Given the description of an element on the screen output the (x, y) to click on. 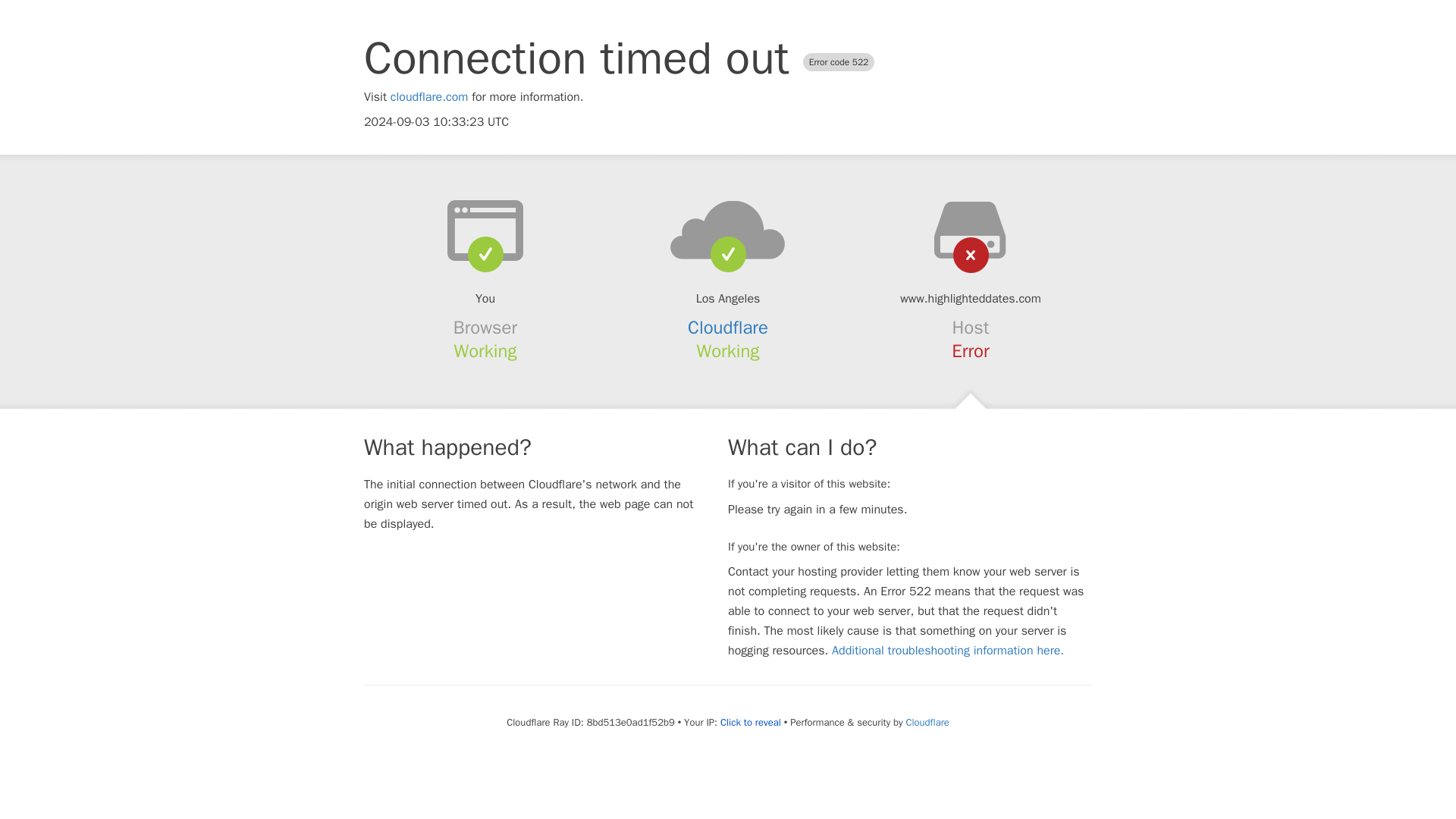
Click to reveal (750, 722)
cloudflare.com (429, 96)
Cloudflare (927, 721)
Cloudflare (727, 327)
Additional troubleshooting information here. (947, 650)
